Given the description of an element on the screen output the (x, y) to click on. 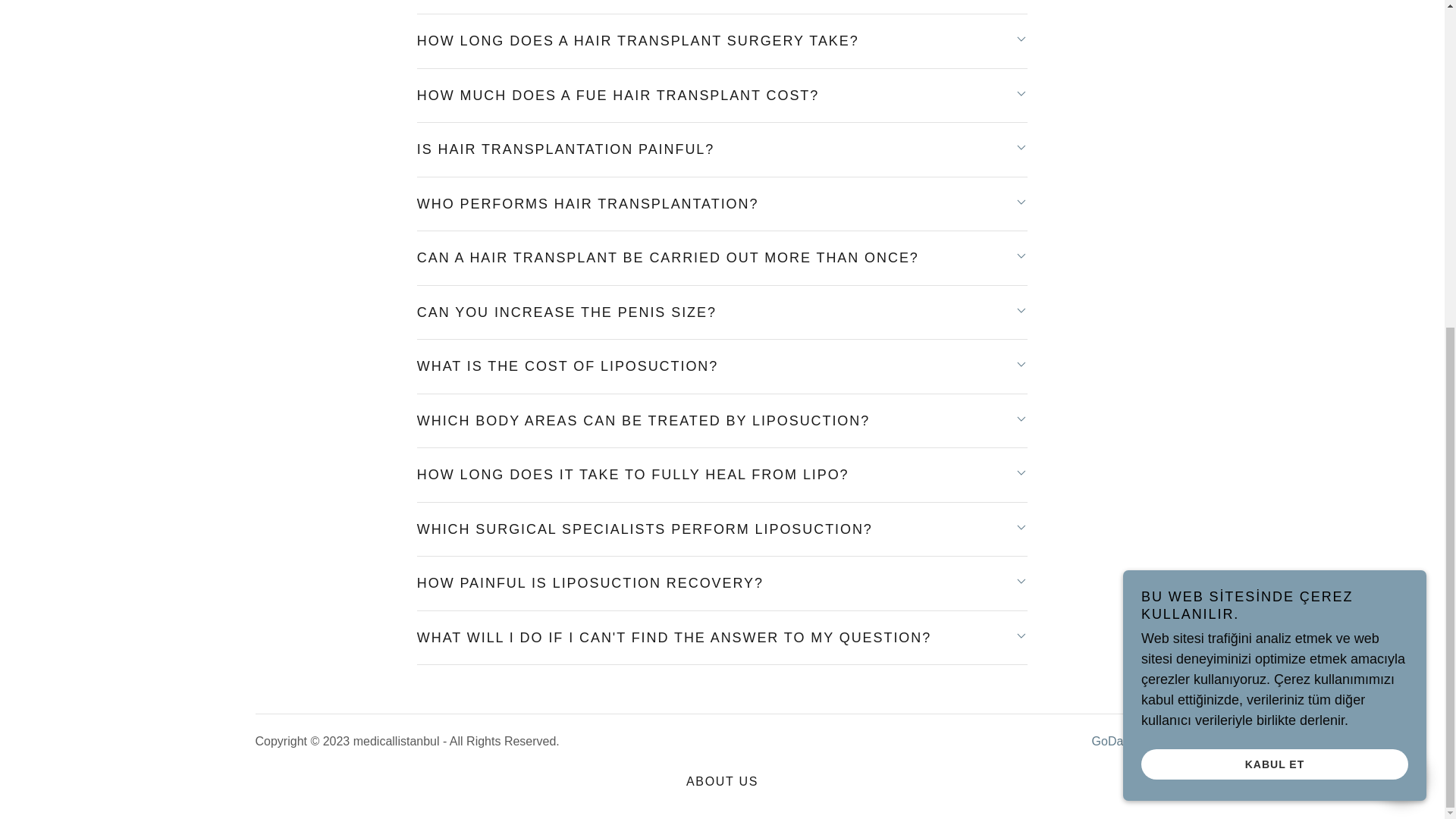
GoDaddy (1117, 740)
WHAT WILL I DO IF I CAN'T FIND THE ANSWER TO MY QUESTION? (721, 637)
HOW LONG DOES A HAIR TRANSPLANT SURGERY TAKE? (721, 41)
WHO PERFORMS HAIR TRANSPLANTATION? (721, 204)
HOW PAINFUL IS LIPOSUCTION RECOVERY? (721, 583)
WHICH SURGICAL SPECIALISTS PERFORM LIPOSUCTION? (721, 529)
HOW LONG DOES IT TAKE TO FULLY HEAL FROM LIPO? (721, 474)
CAN A HAIR TRANSPLANT BE CARRIED OUT MORE THAN ONCE? (721, 257)
IS HAIR TRANSPLANTATION PAINFUL? (721, 149)
HOW MUCH DOES A FUE HAIR TRANSPLANT COST? (721, 95)
